Given the description of an element on the screen output the (x, y) to click on. 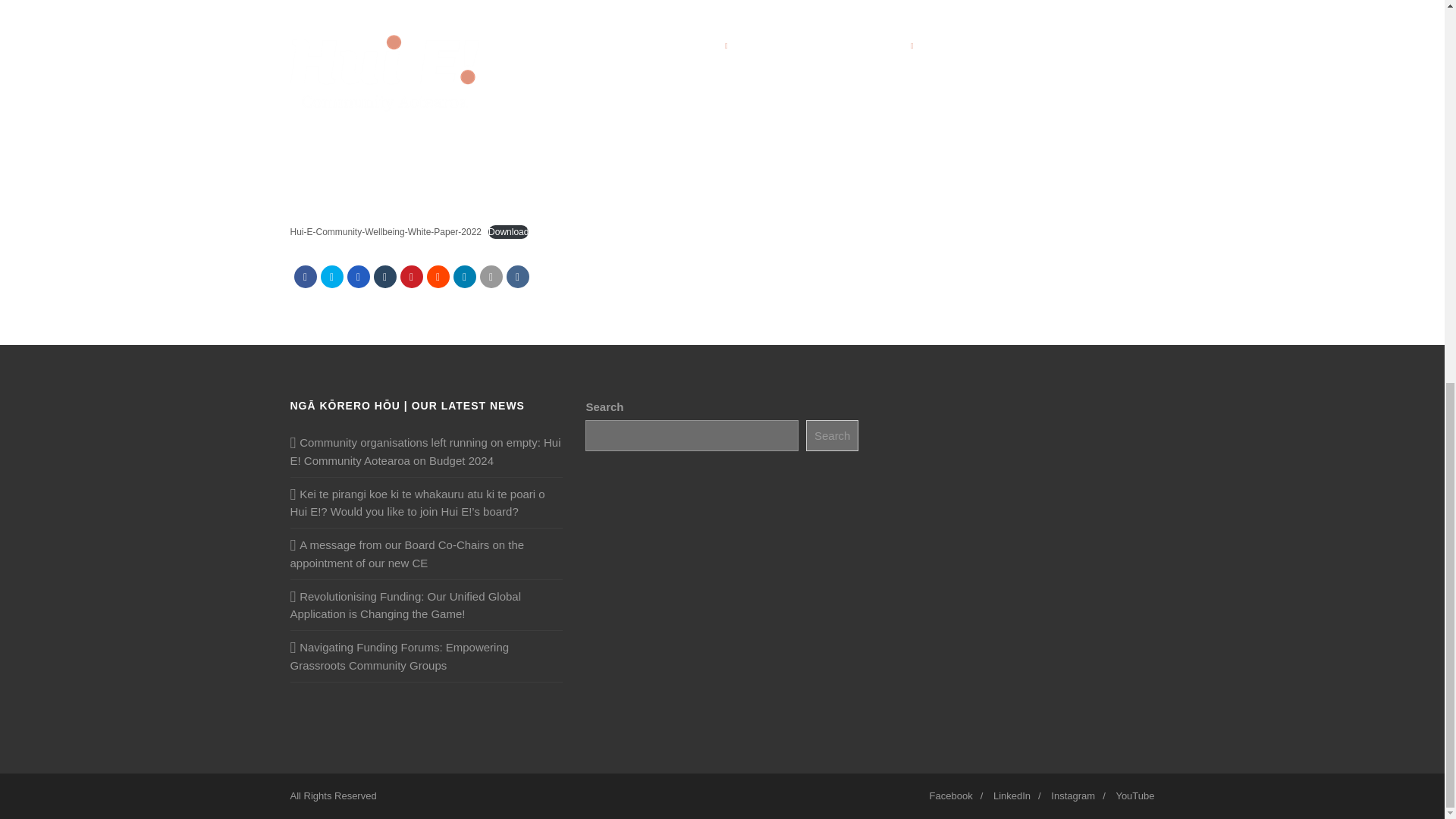
Share on Facebook (305, 276)
Share on vk (517, 276)
Tweet (331, 276)
Download (507, 232)
Email (490, 276)
Pin it (411, 276)
Post to Tumblr (384, 276)
Share on Linkedin (437, 276)
Share on Linkedin (464, 276)
Hui-E-Community-Wellbeing-White-Paper-2022 (385, 231)
